Given the description of an element on the screen output the (x, y) to click on. 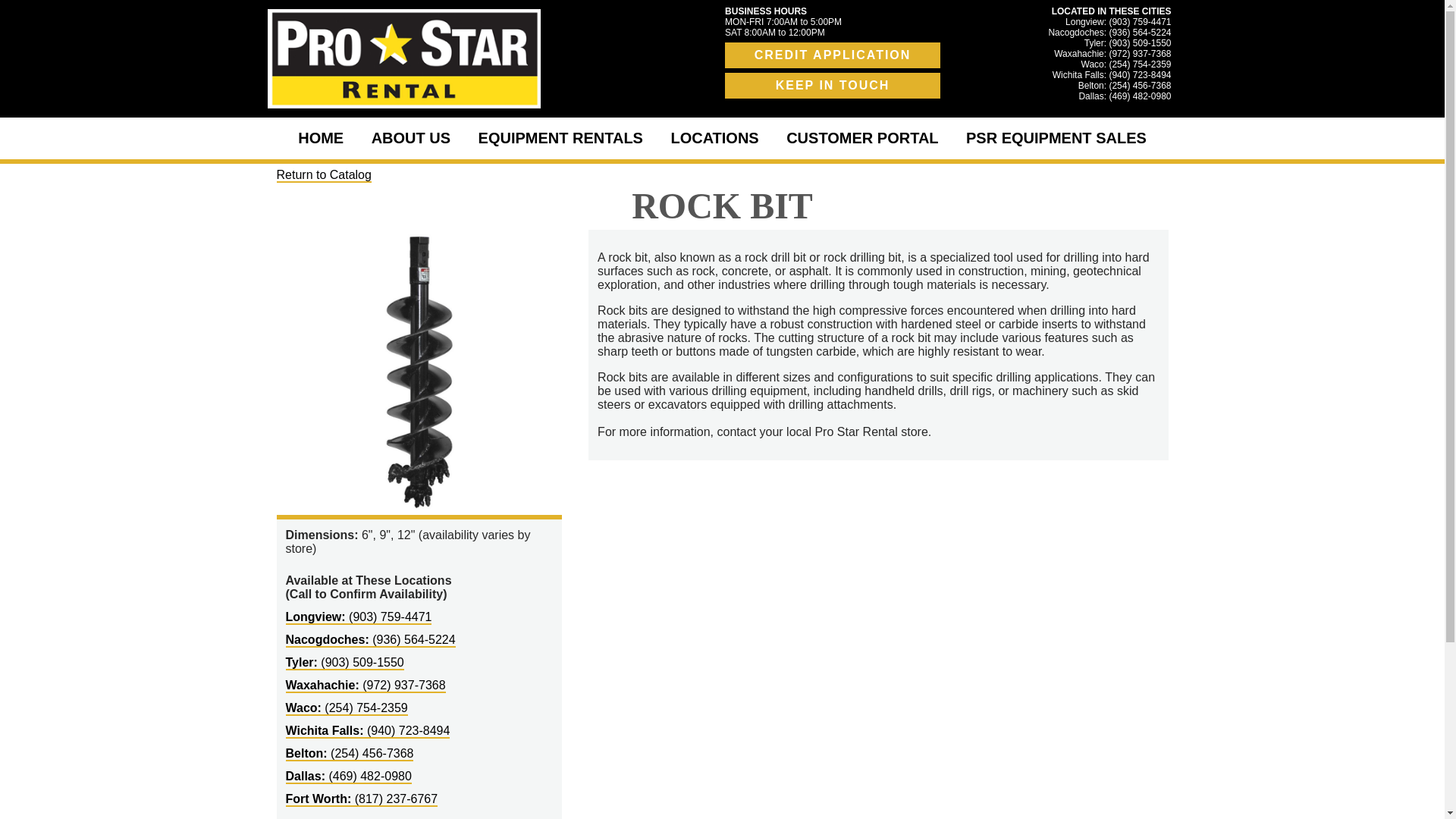
EQUIPMENT RENTALS (560, 137)
LOCATIONS (714, 137)
Pro Star Rental, Texas Equipment Rentals (403, 58)
PSR EQUIPMENT SALES (1055, 137)
ABOUT US (411, 137)
CUSTOMER PORTAL (862, 137)
CREDIT APPLICATION (832, 54)
HOME (320, 137)
KEEP IN TOUCH (832, 85)
